Given the description of an element on the screen output the (x, y) to click on. 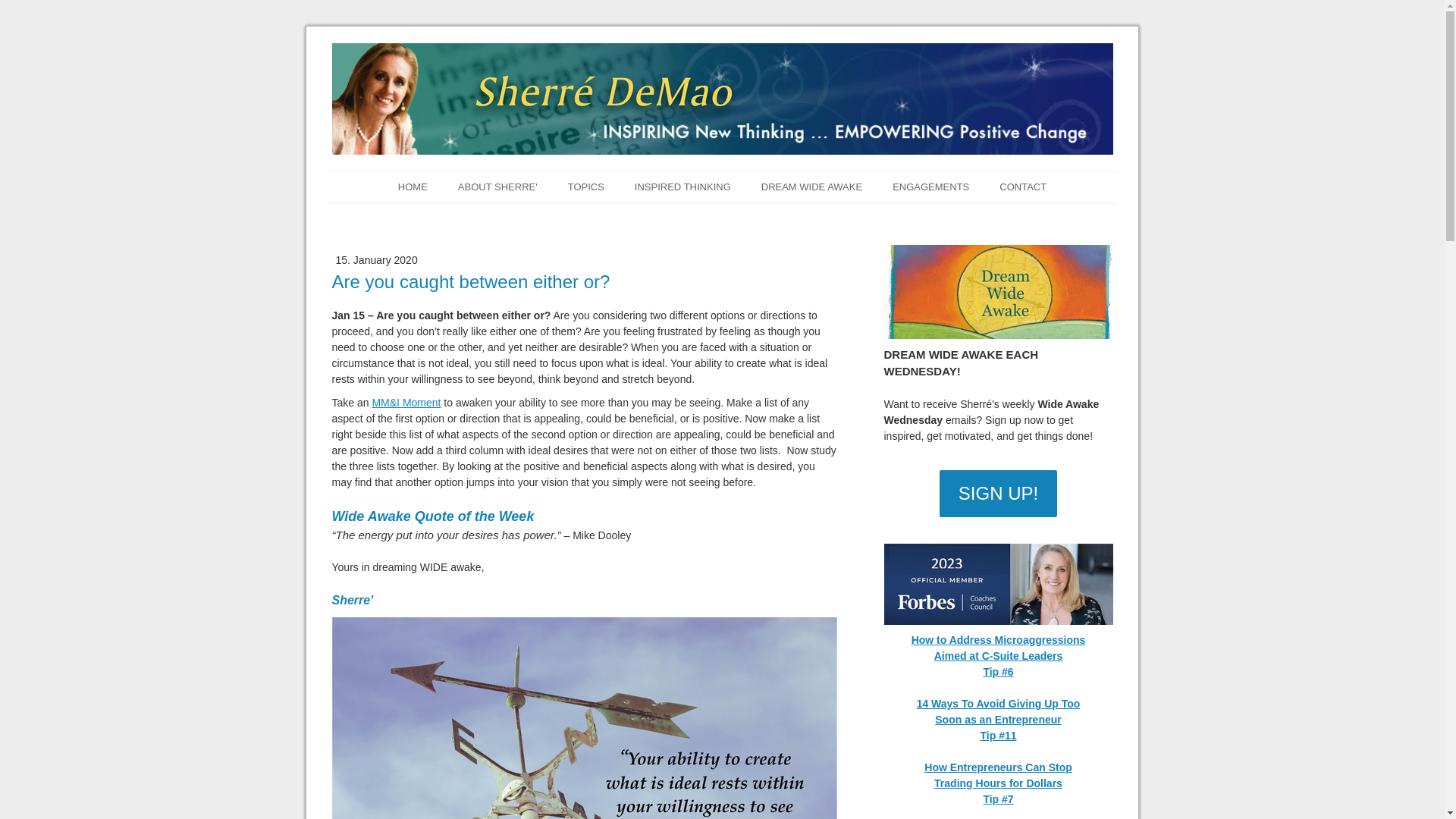
Aimed at C-Suite Leaders (998, 655)
TOPICS (586, 186)
Trading Hours for Dollars (998, 783)
Soon as an Entrepreneur (997, 719)
DREAM WIDE AWAKE (811, 186)
14 Ways To Avoid Giving Up Too (998, 703)
How to Address Microaggressions (998, 639)
CONTACT (1022, 186)
INSPIRED THINKING (682, 186)
ABOUT SHERRE' (497, 186)
HOME (412, 186)
ENGAGEMENTS (930, 186)
SIGN UP! (998, 493)
How Entrepreneurs Can Stop (997, 767)
